Given the description of an element on the screen output the (x, y) to click on. 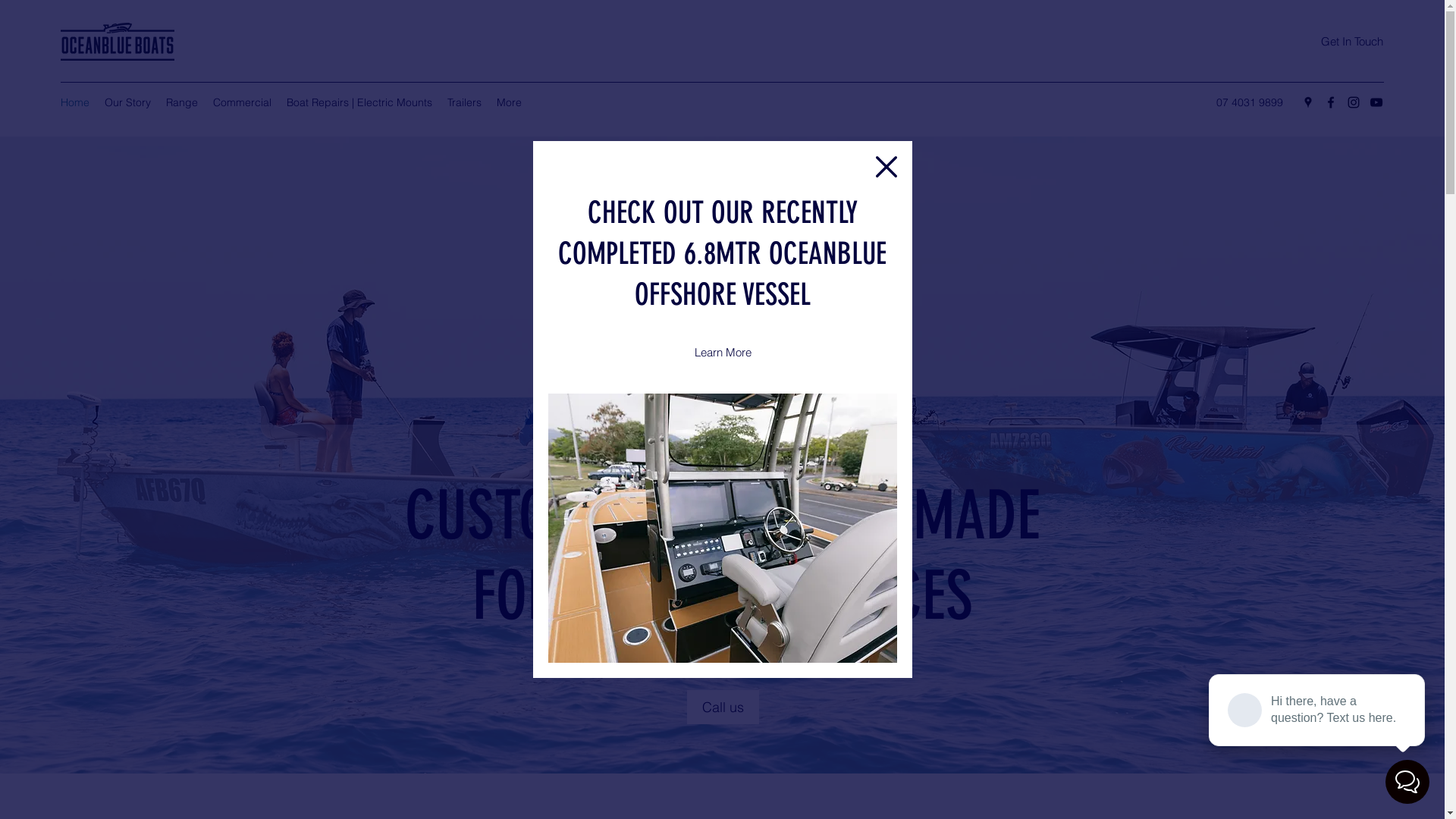
Range Element type: text (181, 102)
Learn More Element type: text (722, 352)
Our Story Element type: text (127, 102)
Back to site Element type: hover (885, 166)
Commercial Element type: text (242, 102)
Trailers Element type: text (464, 102)
Call us Element type: text (723, 707)
Boat Repairs | Electric Mounts Element type: text (359, 102)
Home Element type: text (75, 102)
